Given the description of an element on the screen output the (x, y) to click on. 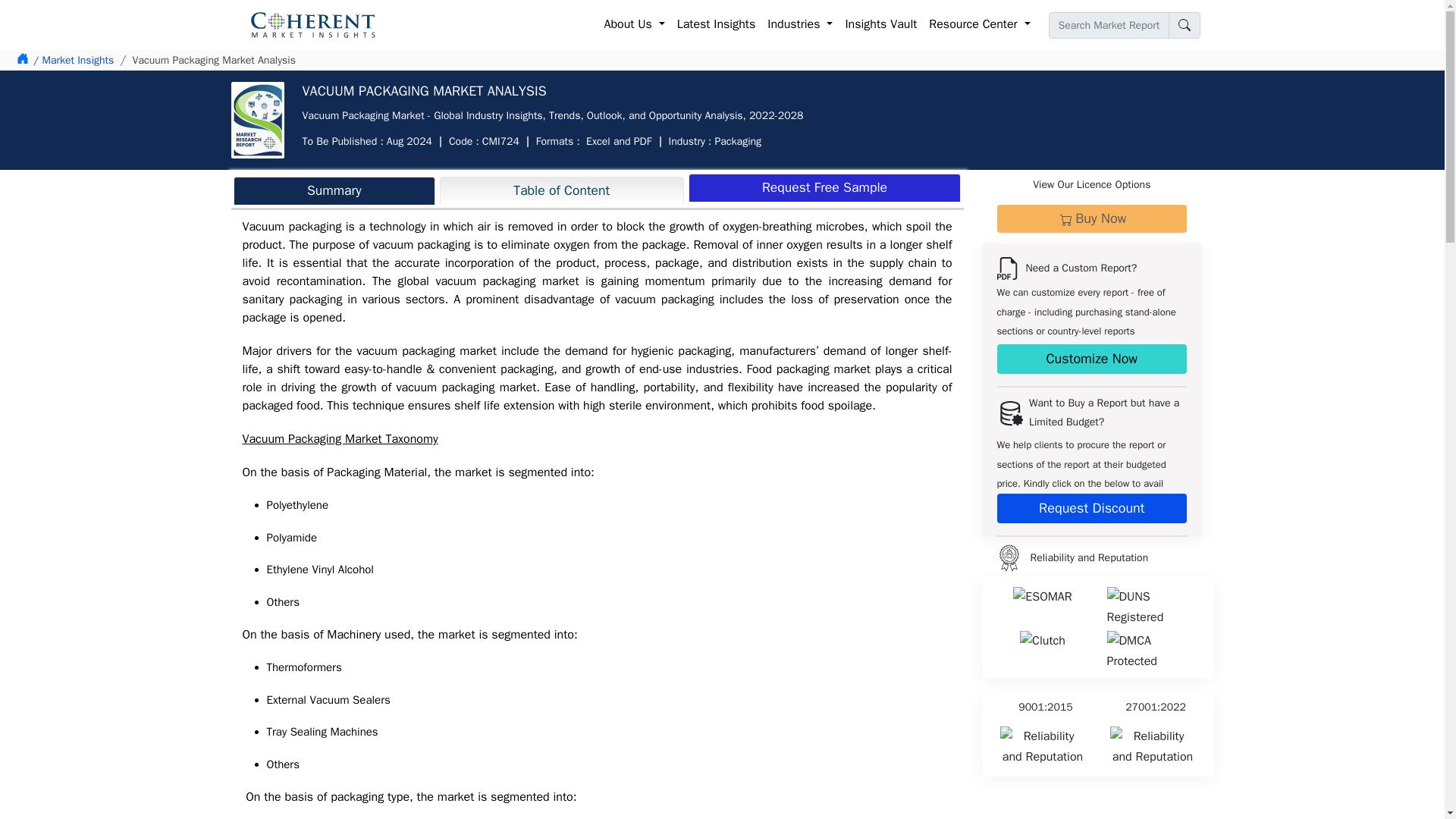
Market Insights (73, 60)
Customize Now (1090, 358)
Logo (1007, 557)
ESOMAR (1042, 597)
Coherent Market Insights (312, 24)
About Us (634, 24)
Clutch (1042, 640)
Request Discount (1090, 508)
search (1183, 25)
Latest Insights (716, 24)
Insights Vault (880, 24)
DUNS Registered (1152, 607)
Industries (799, 24)
Packaging (737, 141)
Resource Center (979, 24)
